Given the description of an element on the screen output the (x, y) to click on. 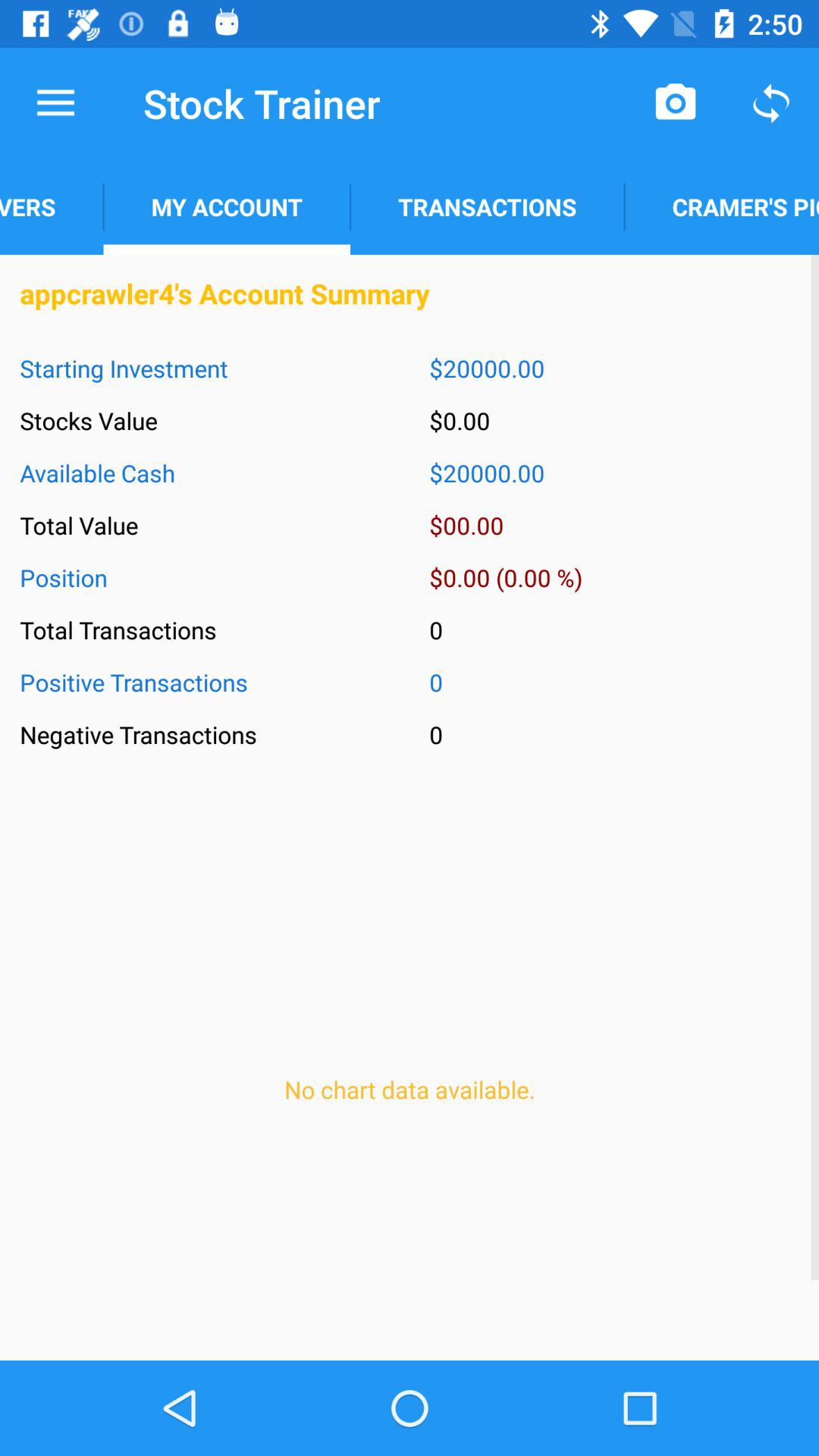
turn on app to the right of the transactions app (675, 103)
